Given the description of an element on the screen output the (x, y) to click on. 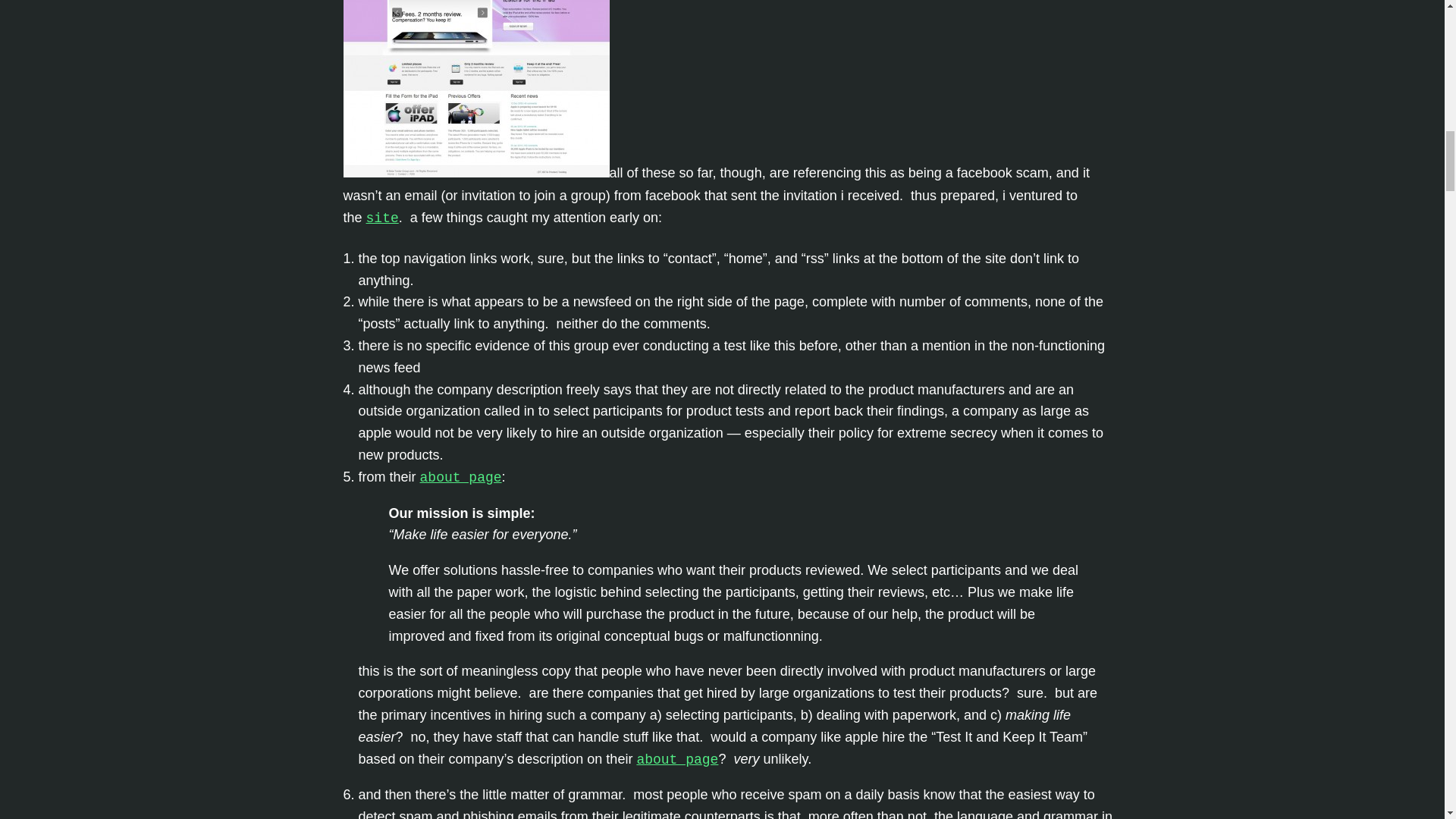
testitandkeepit (475, 88)
